Given the description of an element on the screen output the (x, y) to click on. 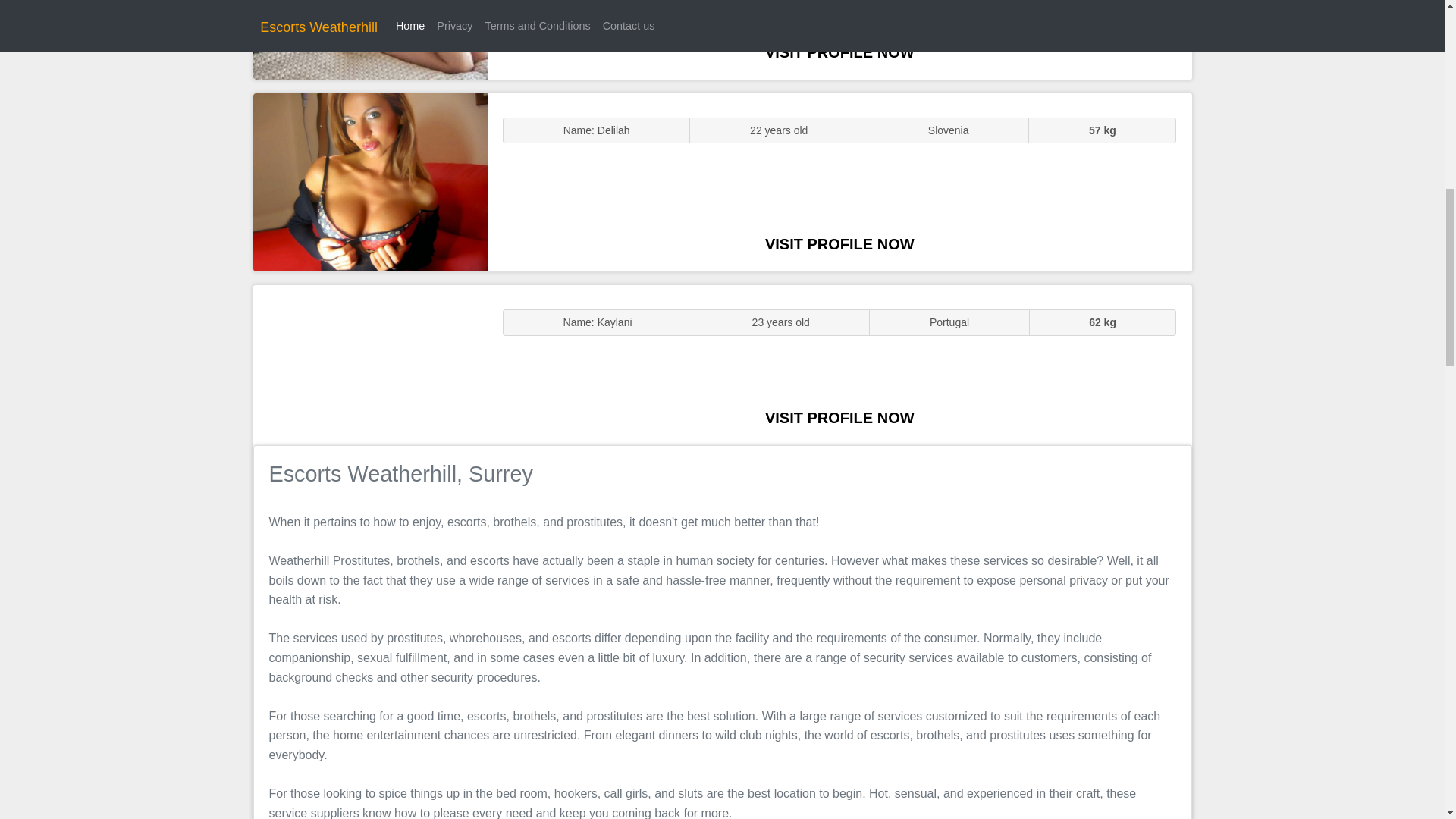
Sluts (370, 39)
Sluts (370, 182)
VISIT PROFILE NOW (839, 417)
Massage (370, 364)
VISIT PROFILE NOW (839, 243)
VISIT PROFILE NOW (839, 52)
